Given the description of an element on the screen output the (x, y) to click on. 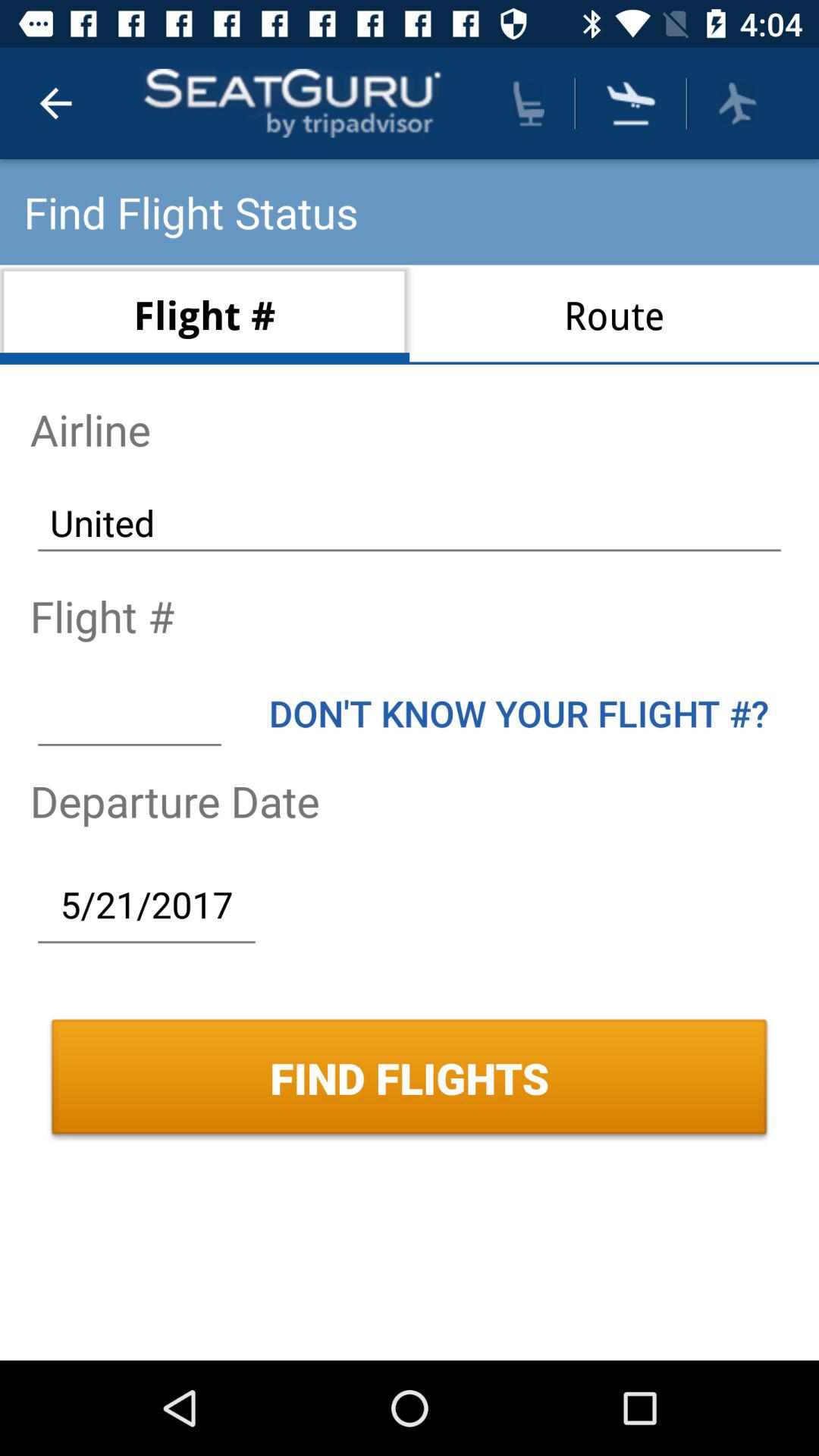
swipe until 5/21/2017 (146, 903)
